Given the description of an element on the screen output the (x, y) to click on. 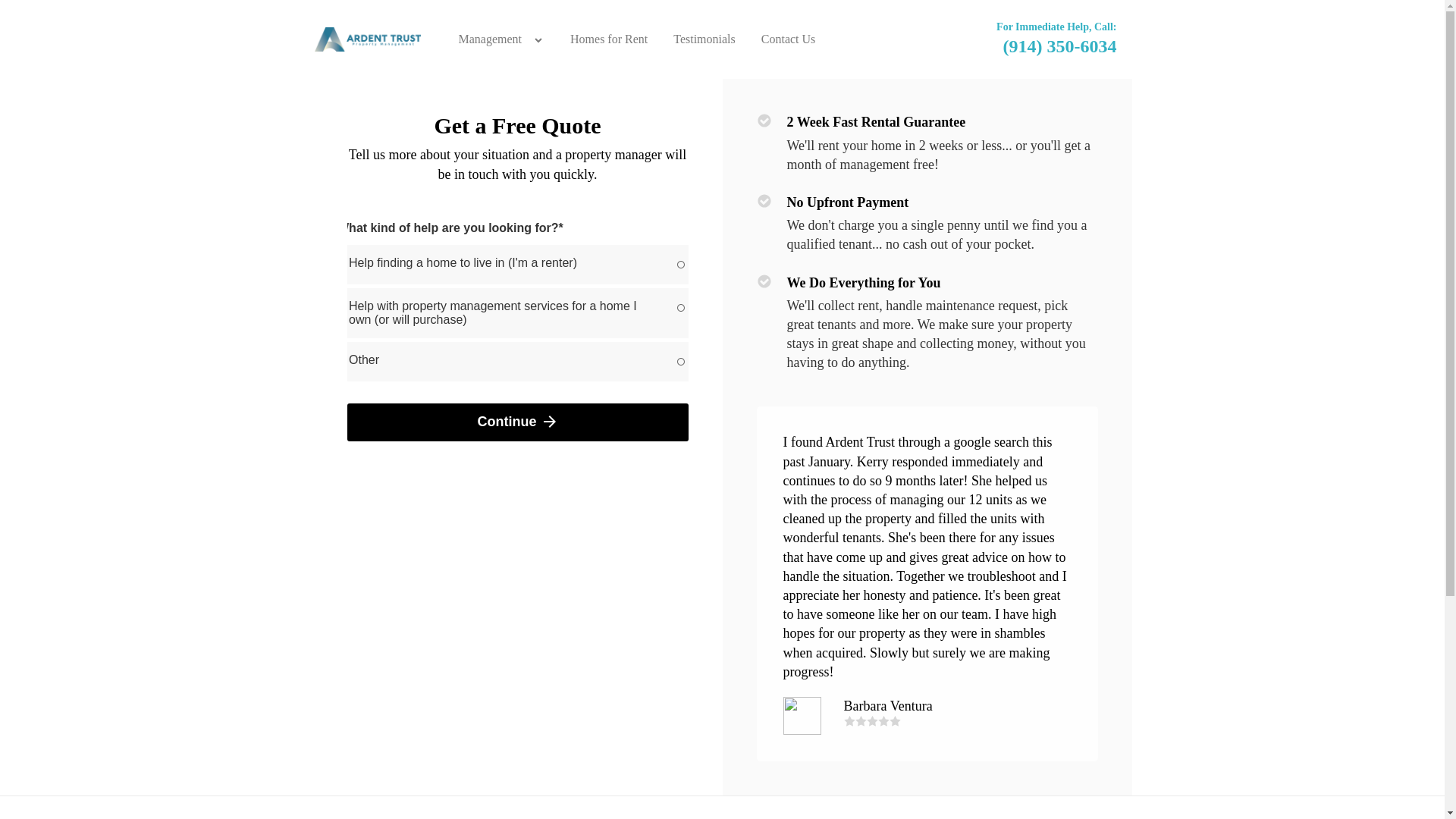
Management (490, 39)
Homes for Rent (609, 39)
Contact Us (788, 39)
Embedded form (517, 331)
Testimonials (704, 39)
